Given the description of an element on the screen output the (x, y) to click on. 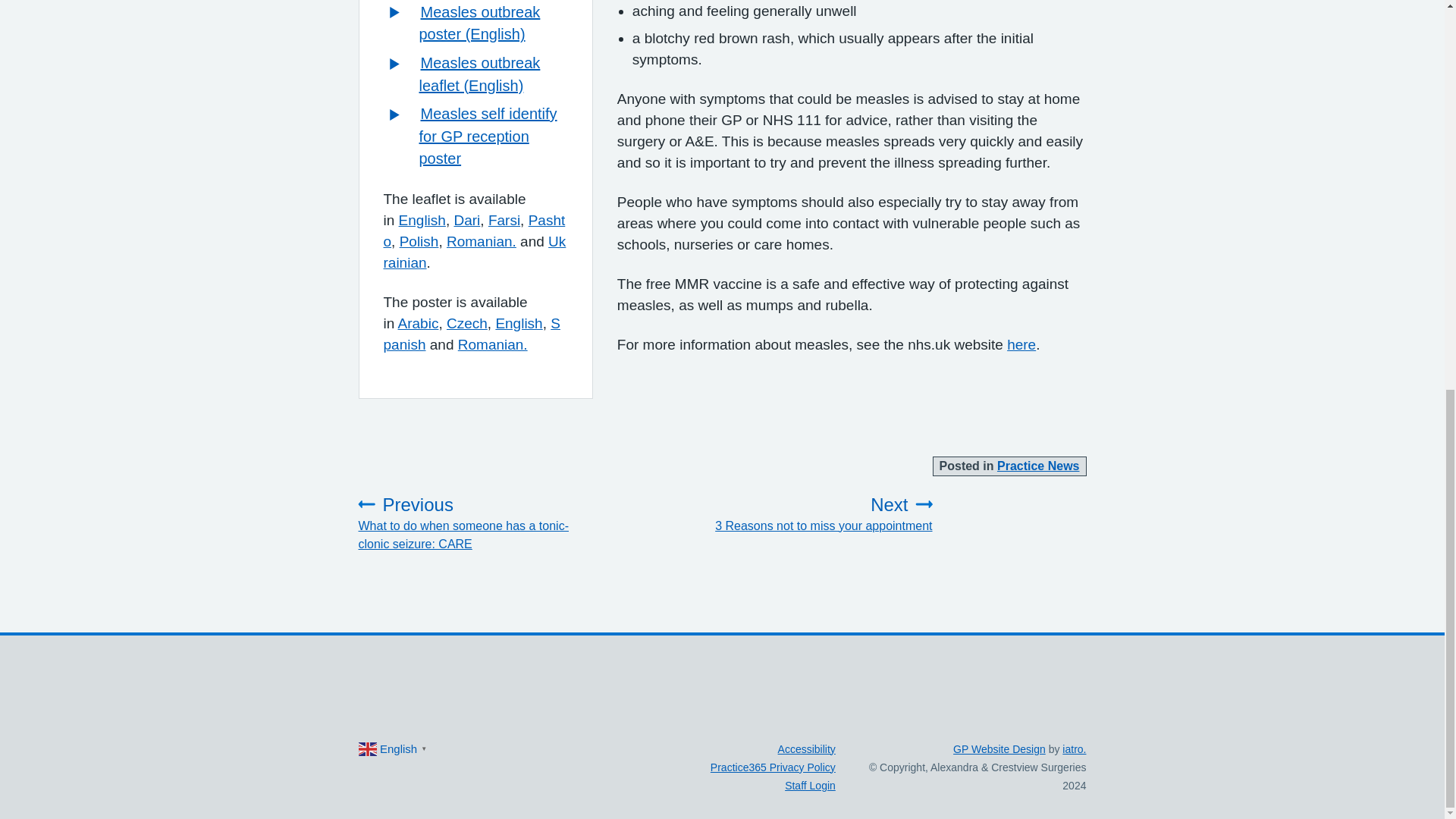
Polish (418, 241)
Czech (466, 323)
Romanian. (492, 344)
Pashto (475, 230)
English (421, 220)
Spanish (823, 514)
Farsi (472, 333)
Measles self identify for GP reception poster (503, 220)
here (487, 136)
Ukrainian (1021, 344)
Arabic (475, 252)
Dari (418, 323)
Practice News (466, 220)
